Given the description of an element on the screen output the (x, y) to click on. 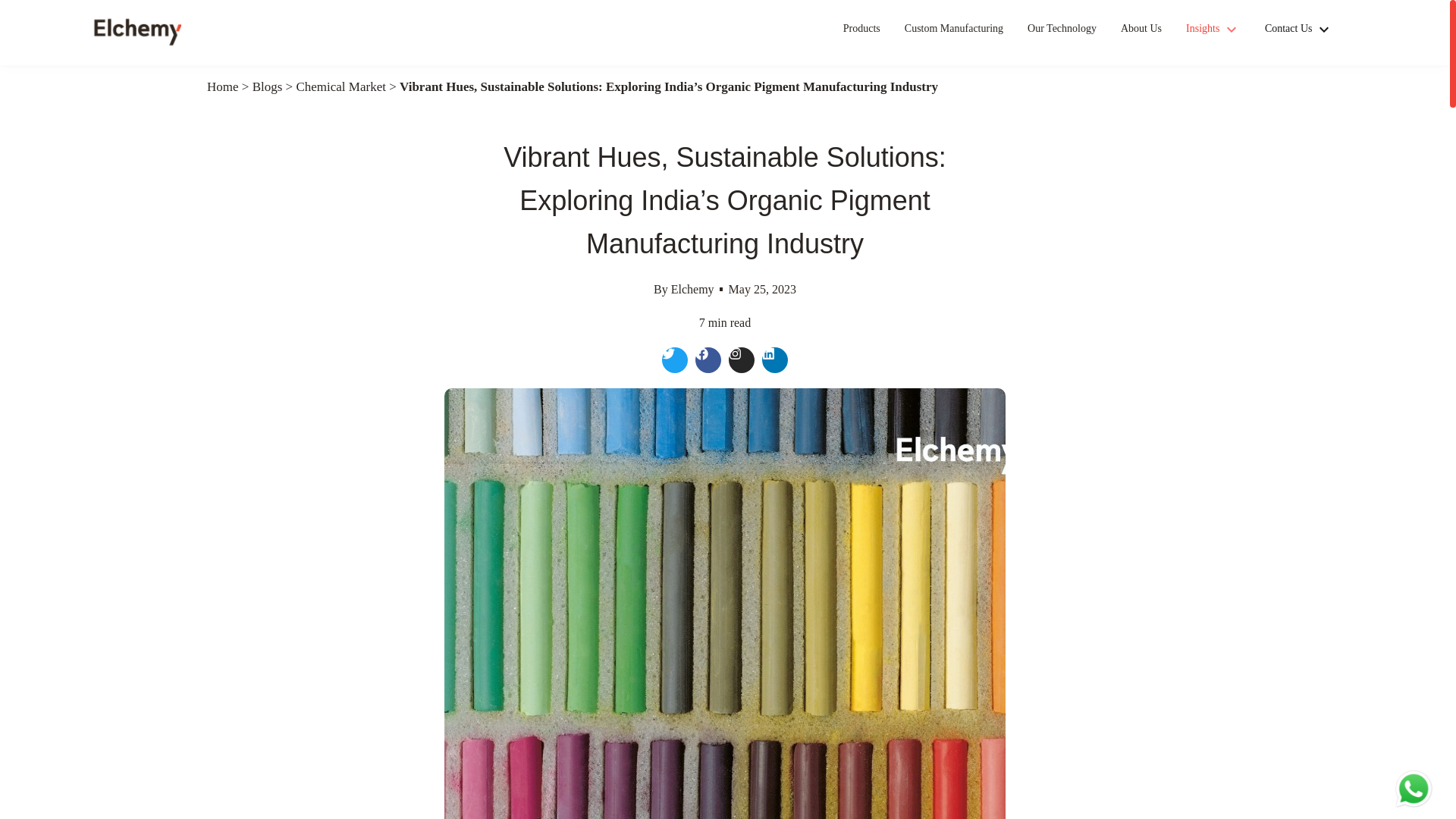
Our Technology (1061, 33)
Products (861, 33)
About Us (1141, 33)
Custom Manufacturing (953, 33)
Contact Us (1299, 29)
